Given the description of an element on the screen output the (x, y) to click on. 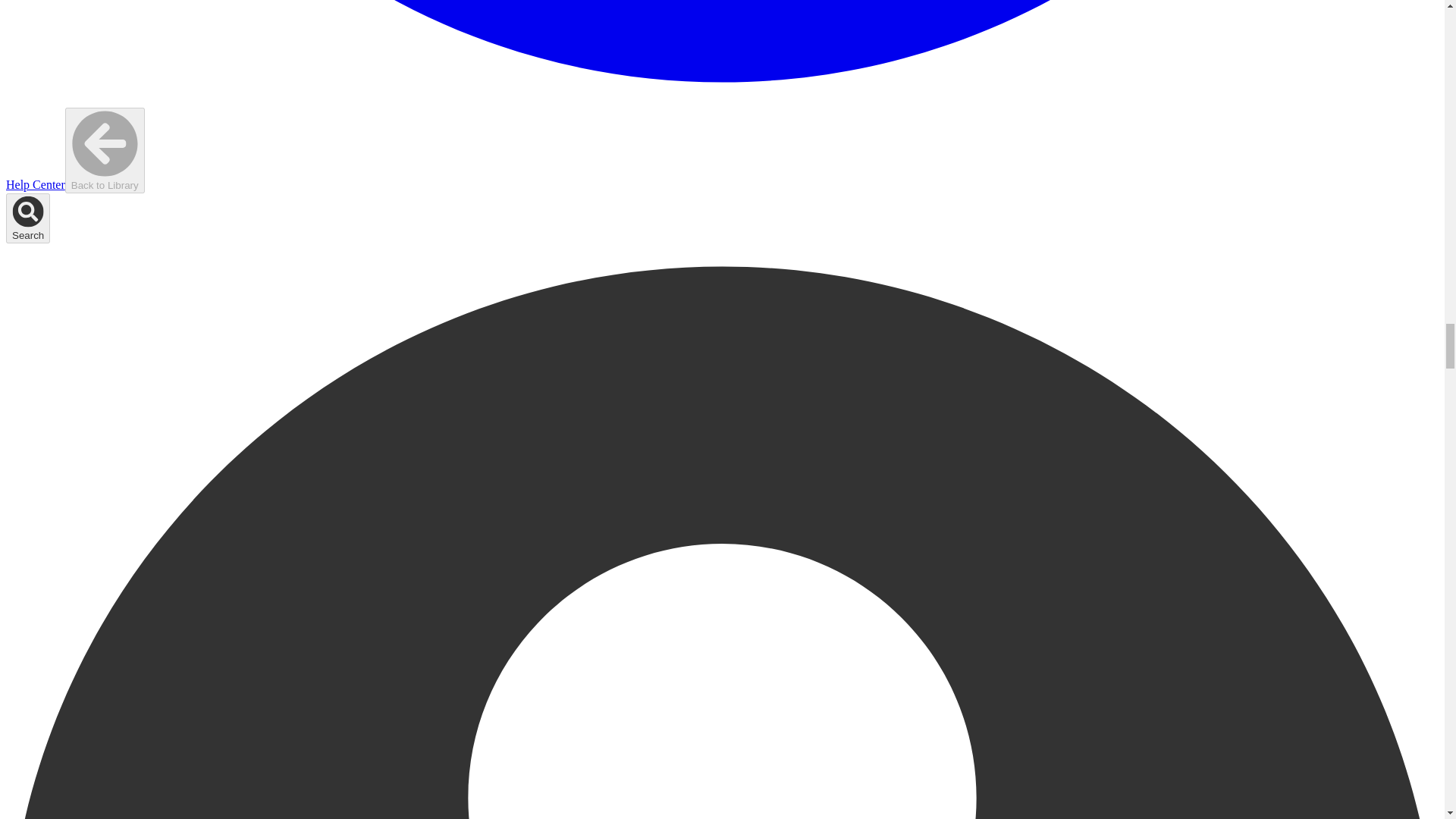
Back to Library (104, 150)
Search (27, 218)
